Given the description of an element on the screen output the (x, y) to click on. 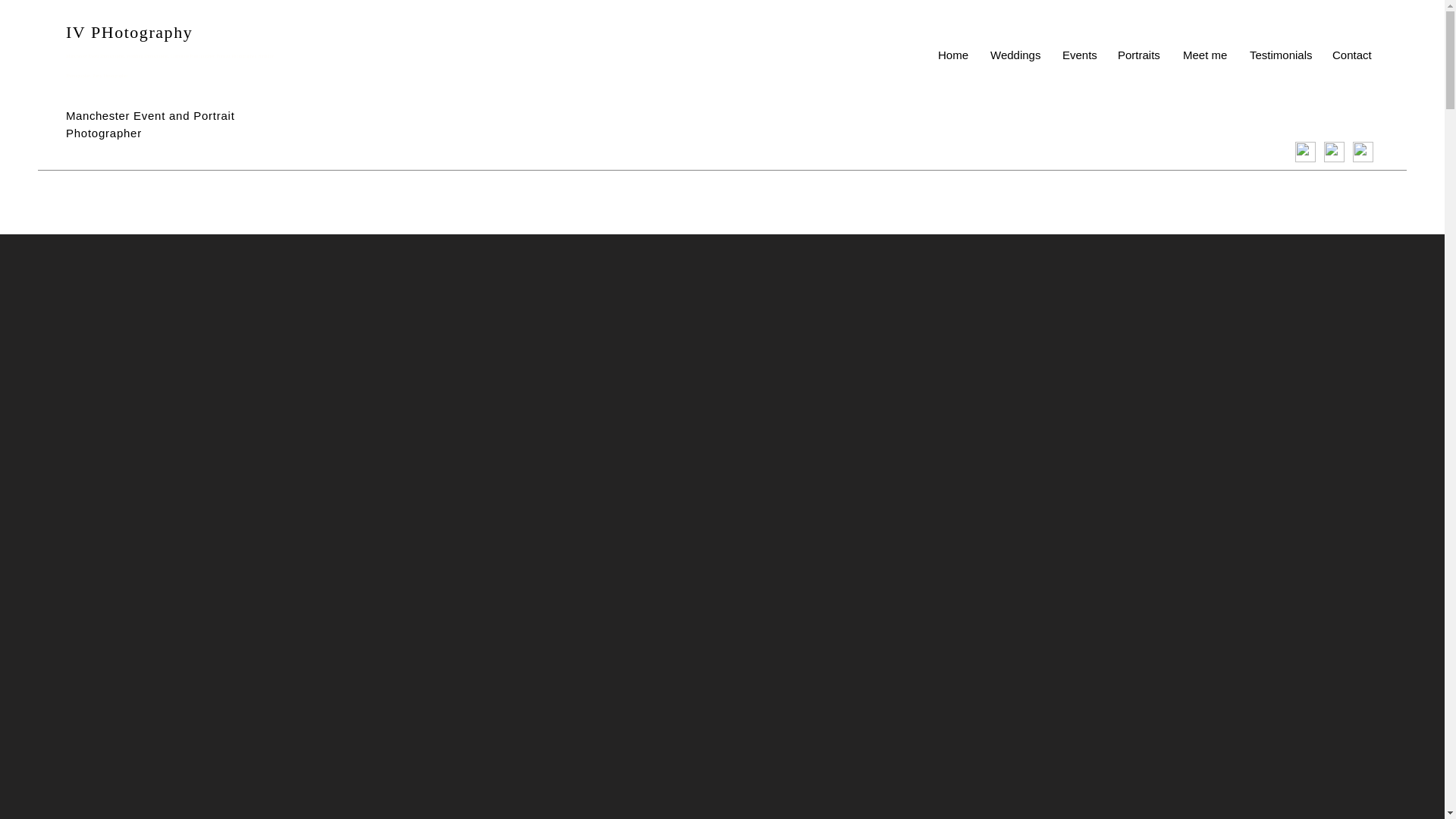
Home (952, 54)
Testimonials (1279, 54)
Events (1078, 54)
Meet me (1205, 54)
IV PHotography (128, 31)
Weddings (1014, 54)
Portraits (1139, 54)
Contact (1350, 54)
